Given the description of an element on the screen output the (x, y) to click on. 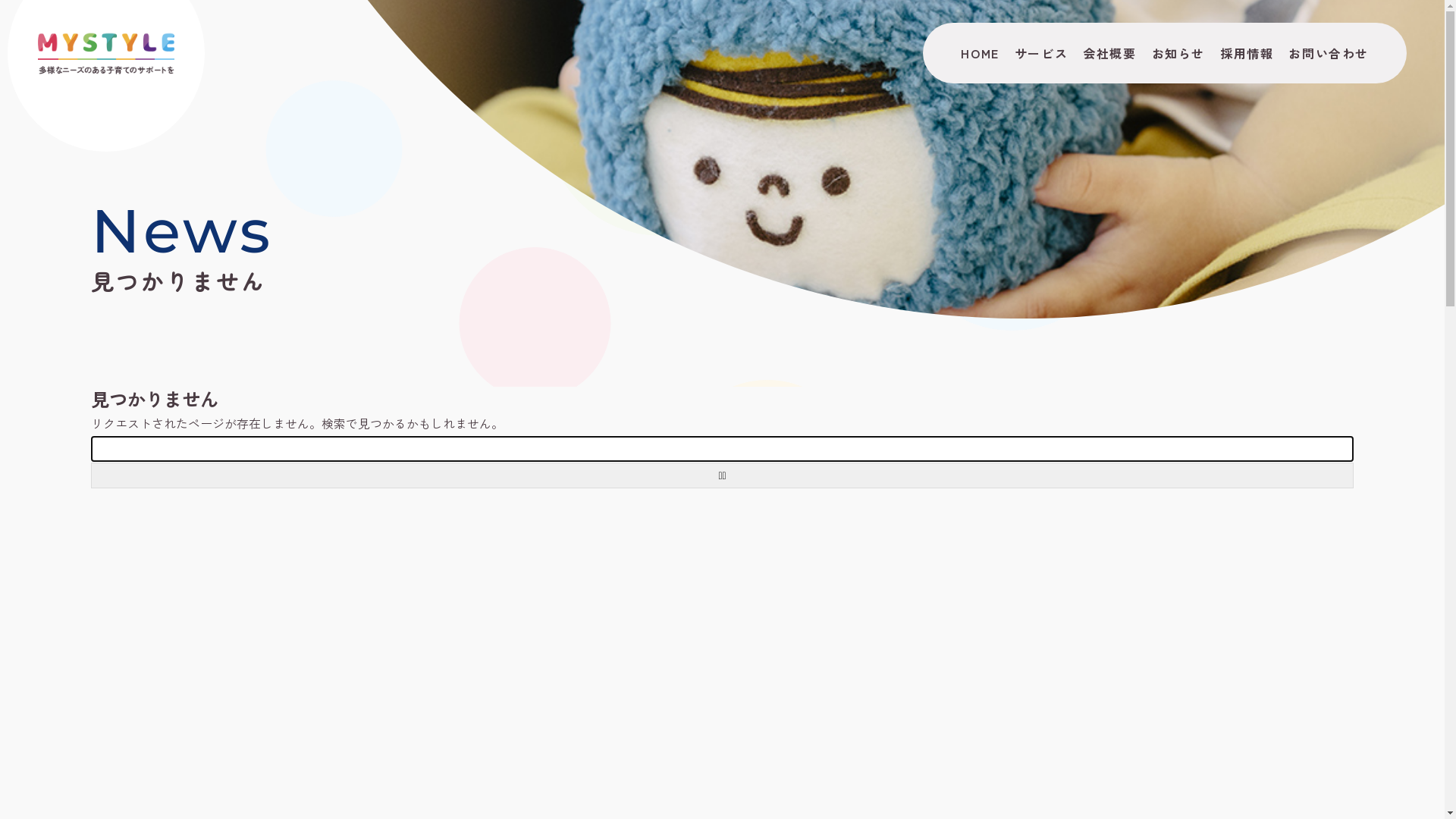
HOME Element type: text (979, 53)
